Given the description of an element on the screen output the (x, y) to click on. 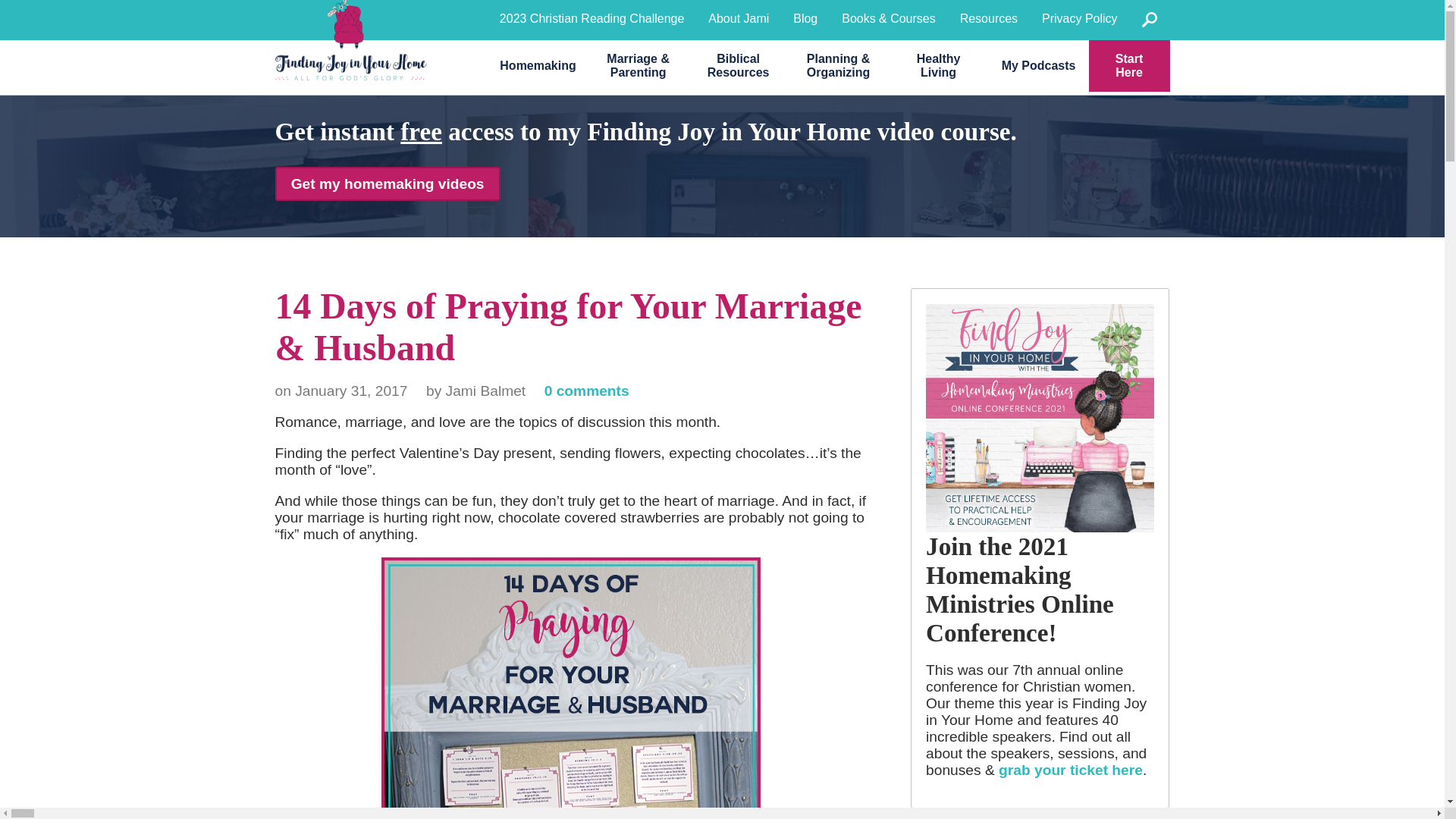
Get my homemaking videos (387, 183)
Start Here (1129, 65)
Homemaking (537, 65)
Biblical Resources (738, 65)
Blog (804, 18)
0 comments (586, 390)
2023 Christian Reading Challenge (591, 18)
Healthy Living (938, 65)
Privacy Policy (1079, 18)
Search (1149, 20)
About Jami (737, 18)
My Podcasts (1038, 65)
Resources (988, 18)
